Given the description of an element on the screen output the (x, y) to click on. 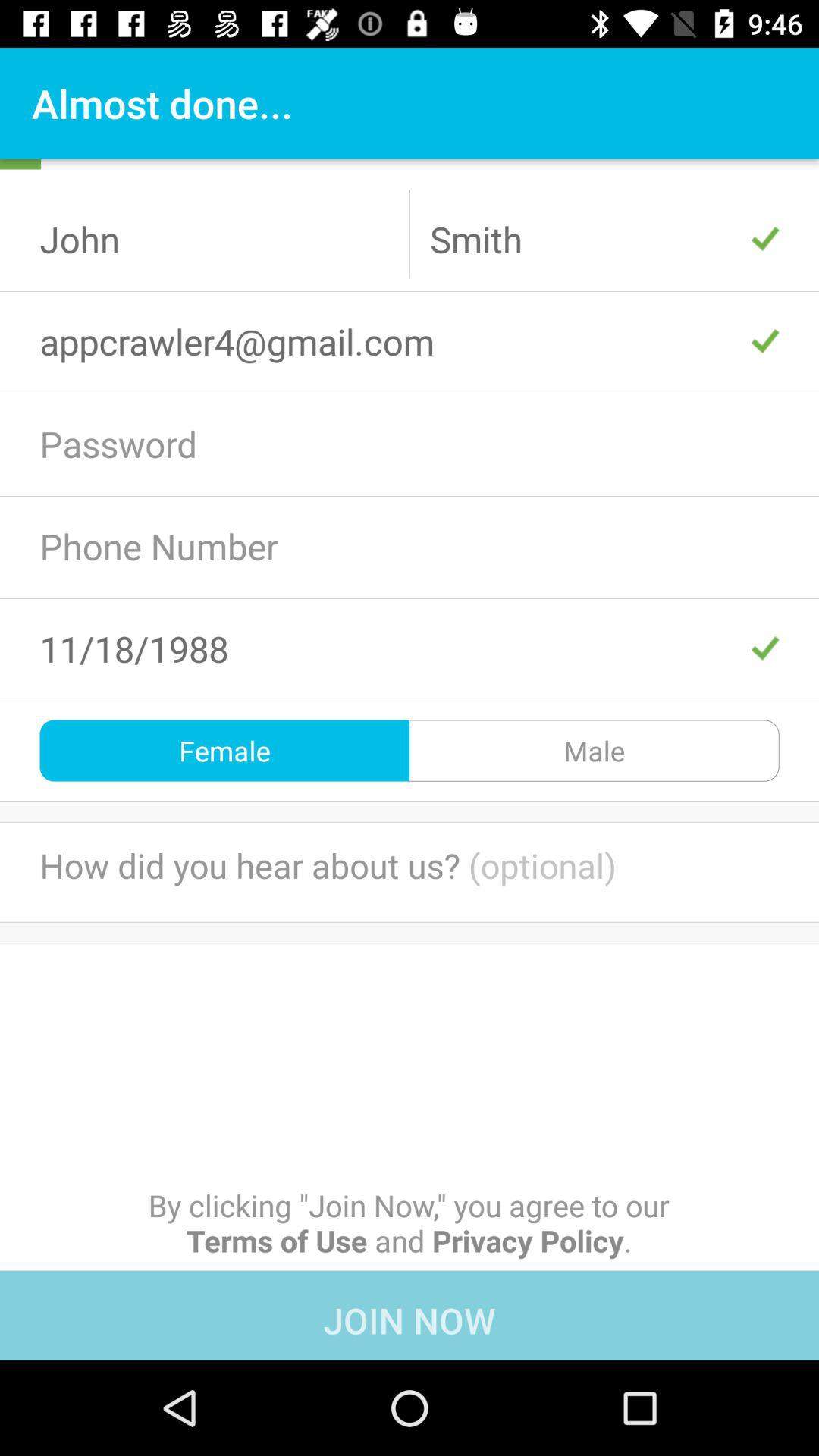
turn off by clicking join item (408, 1222)
